Given the description of an element on the screen output the (x, y) to click on. 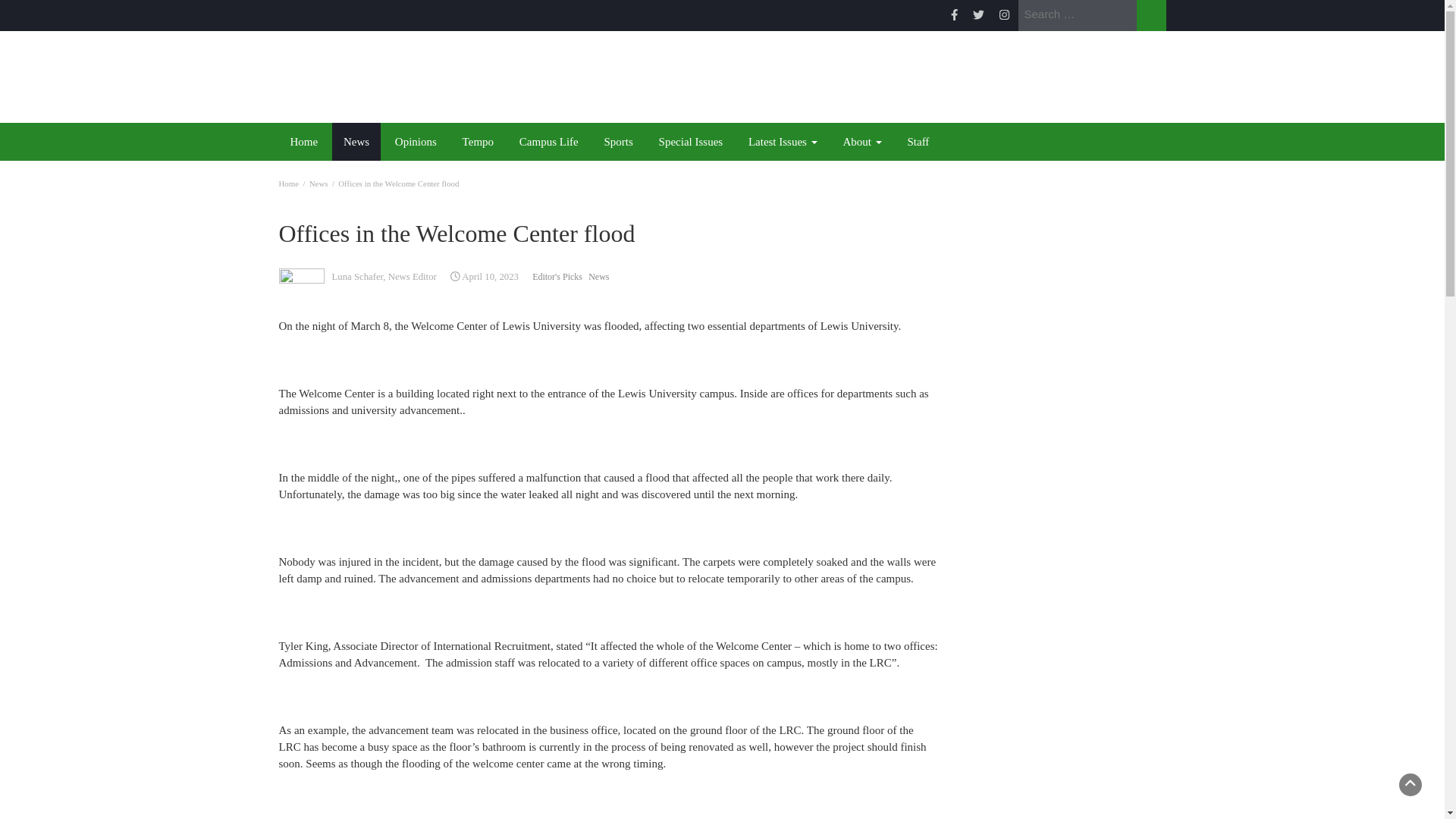
Special Issues (691, 141)
About (861, 141)
Campus Life (548, 141)
Luna Schafer, News Editor (383, 276)
Search (1150, 15)
Editor's Picks (557, 276)
Sports (617, 141)
News (598, 276)
Home (288, 183)
Home (304, 141)
News (318, 183)
Special Issues (691, 141)
Home (304, 141)
Search (1150, 15)
Tempo (478, 141)
